Given the description of an element on the screen output the (x, y) to click on. 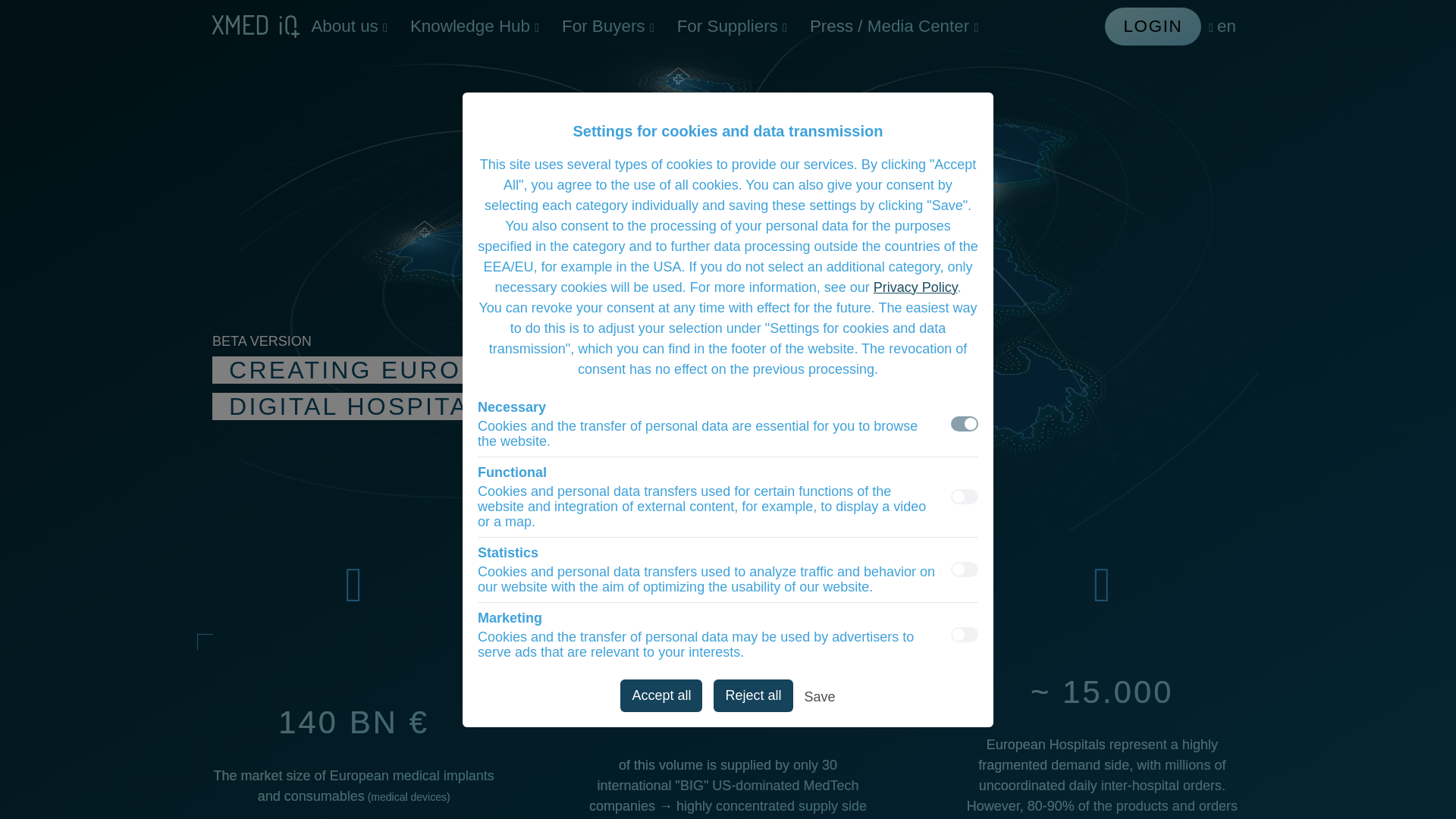
on (964, 423)
Save (820, 699)
About us (348, 26)
on (964, 569)
Reject all (752, 695)
For Buyers (607, 26)
Privacy Policy (915, 286)
Knowledge Hub (474, 26)
on (964, 634)
LOGIN (1153, 26)
